Given the description of an element on the screen output the (x, y) to click on. 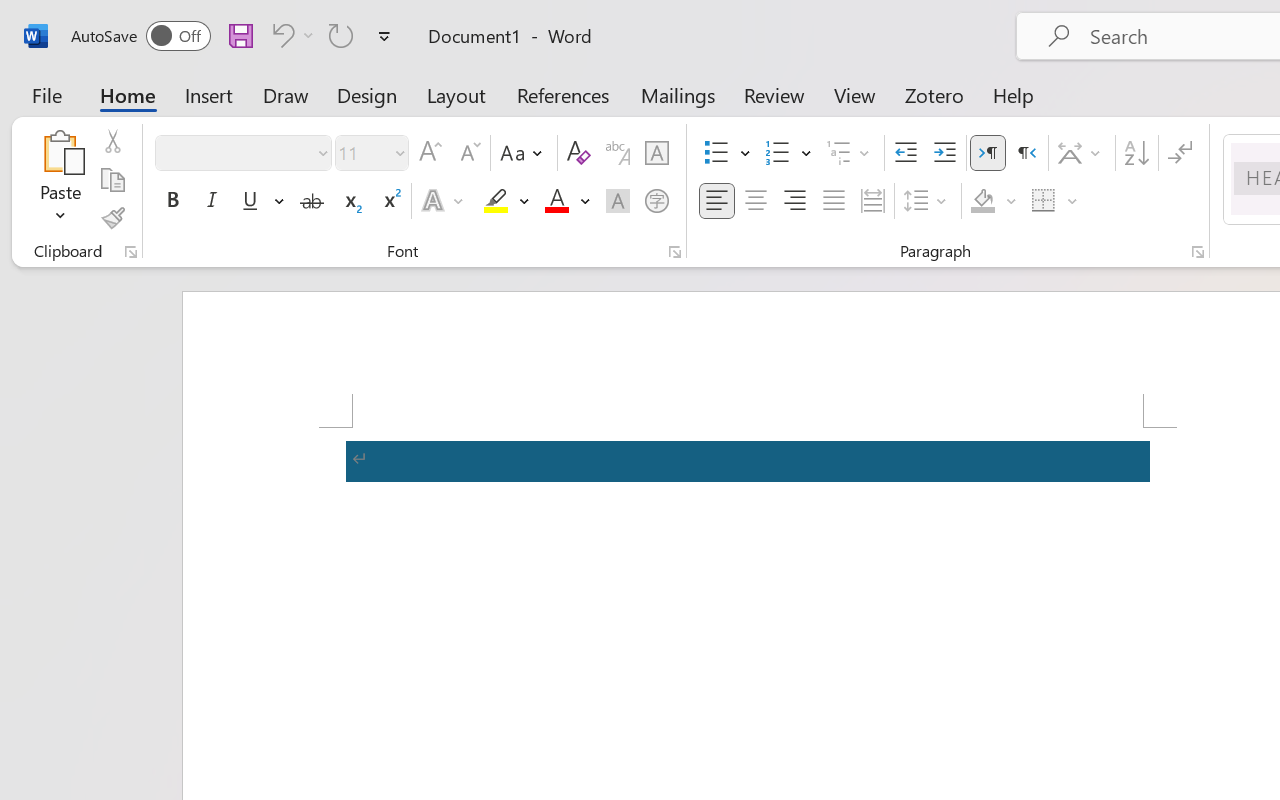
Right-to-Left (1026, 153)
